Given the description of an element on the screen output the (x, y) to click on. 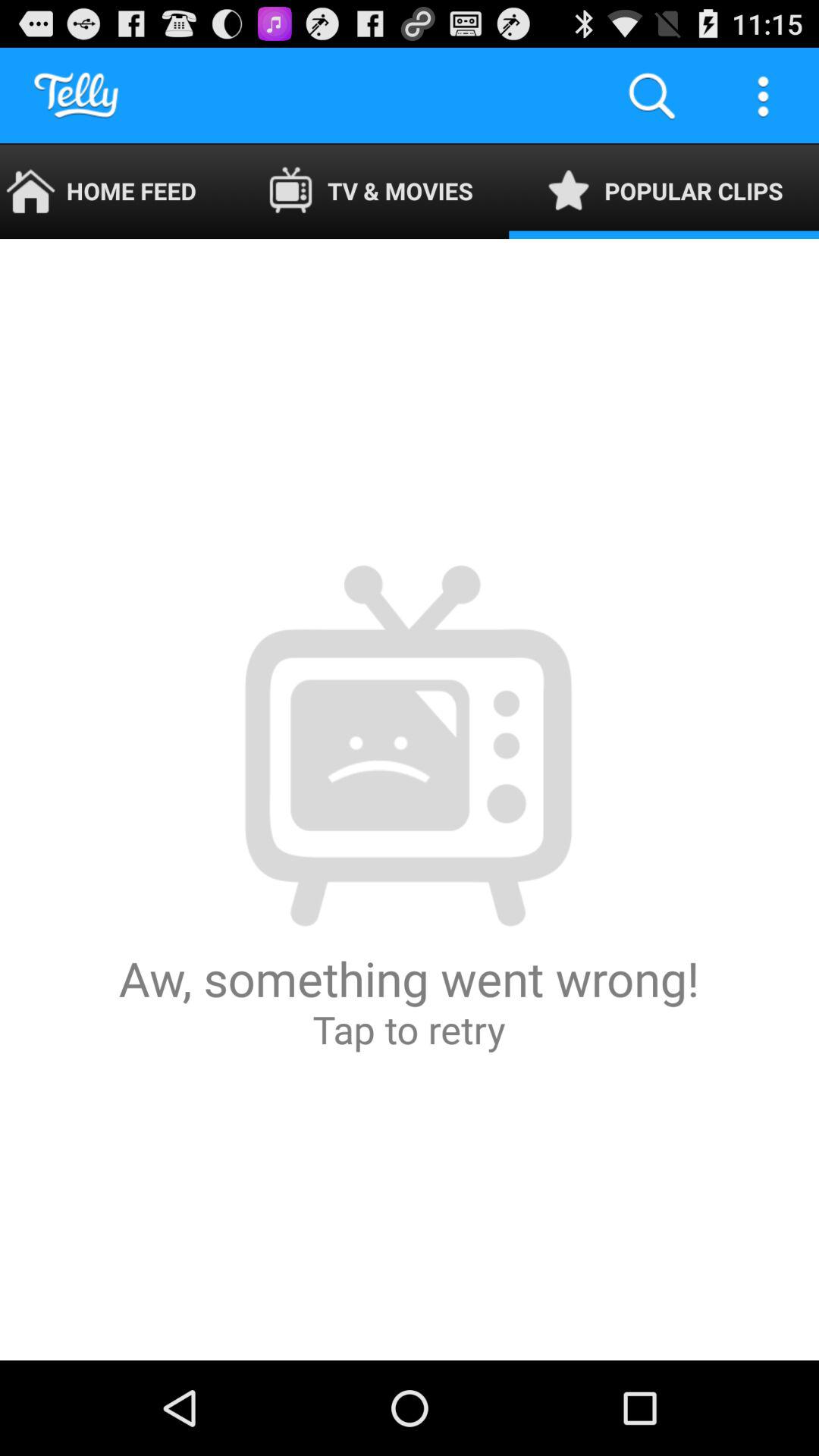
select icon above popular clips item (651, 95)
